Given the description of an element on the screen output the (x, y) to click on. 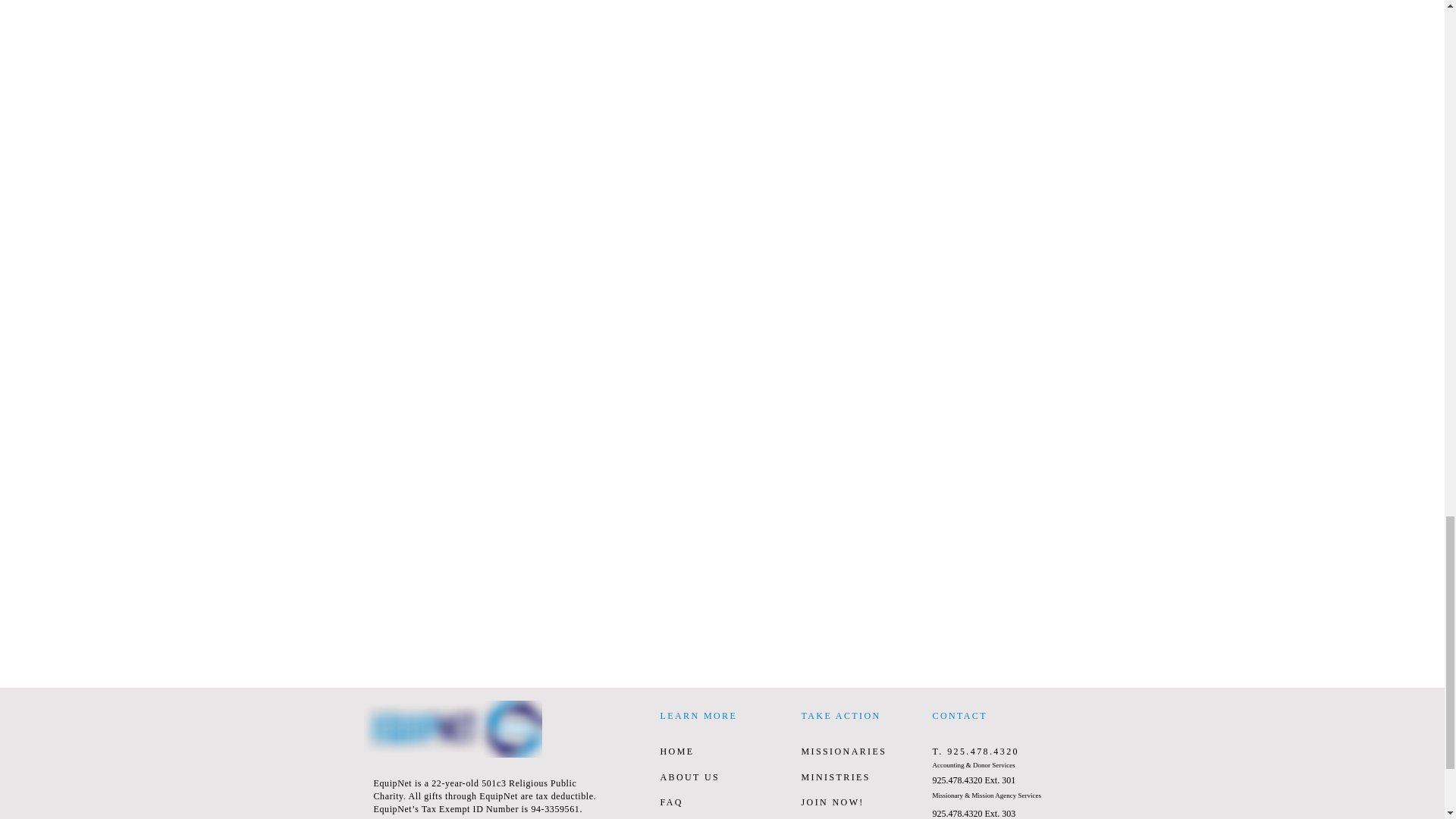
JOIN NOW! (831, 801)
MINISTRIES (834, 777)
ABOUT US (689, 777)
FAQ (670, 801)
HOME (676, 751)
MISSIONARIES (843, 751)
